Given the description of an element on the screen output the (x, y) to click on. 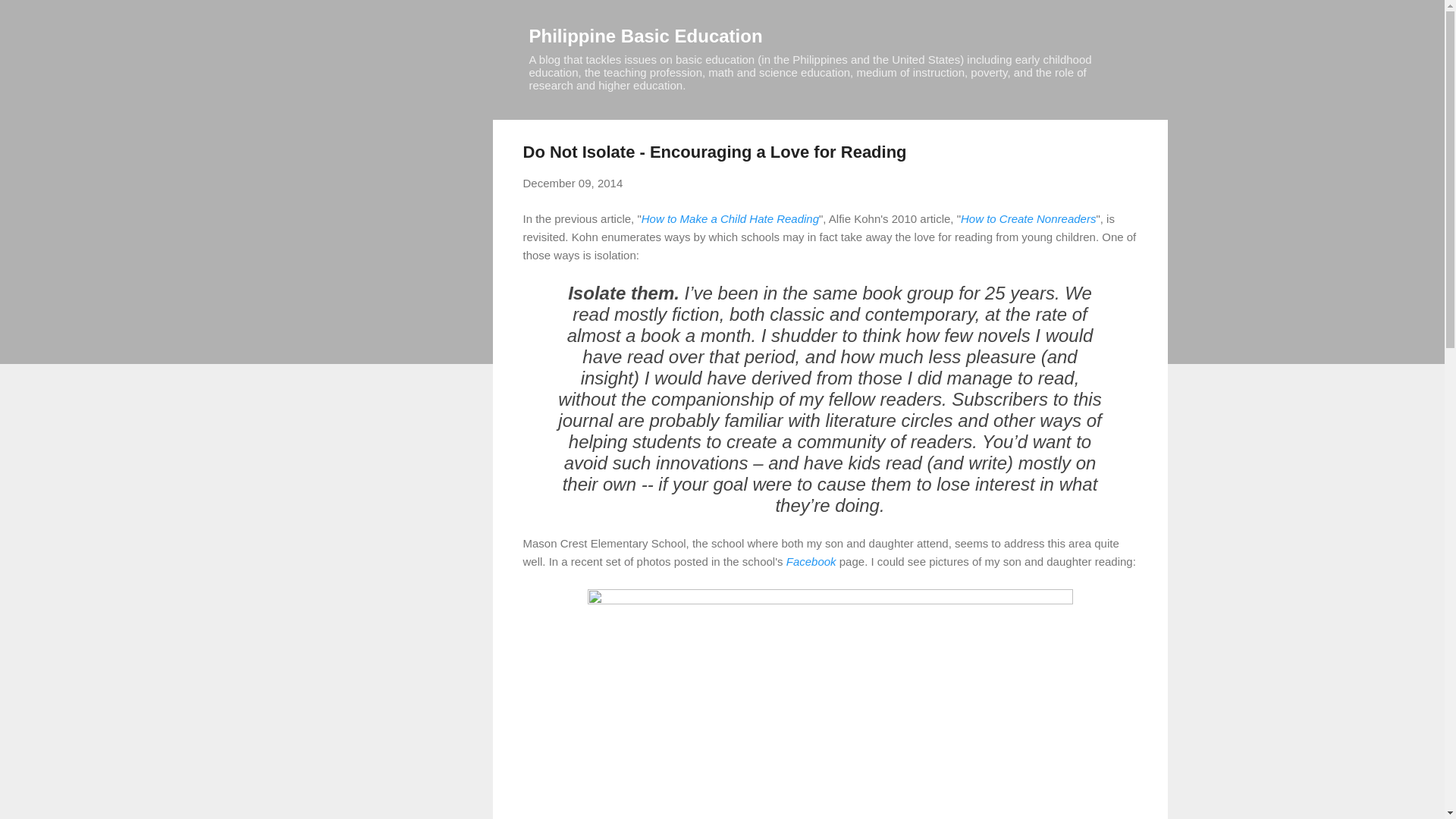
How to Create Nonreaders (1028, 218)
Philippine Basic Education (645, 35)
How to Make a Child Hate Reading (730, 218)
Search (29, 18)
December 09, 2014 (572, 182)
permanent link (572, 182)
Facebook (810, 561)
